Given the description of an element on the screen output the (x, y) to click on. 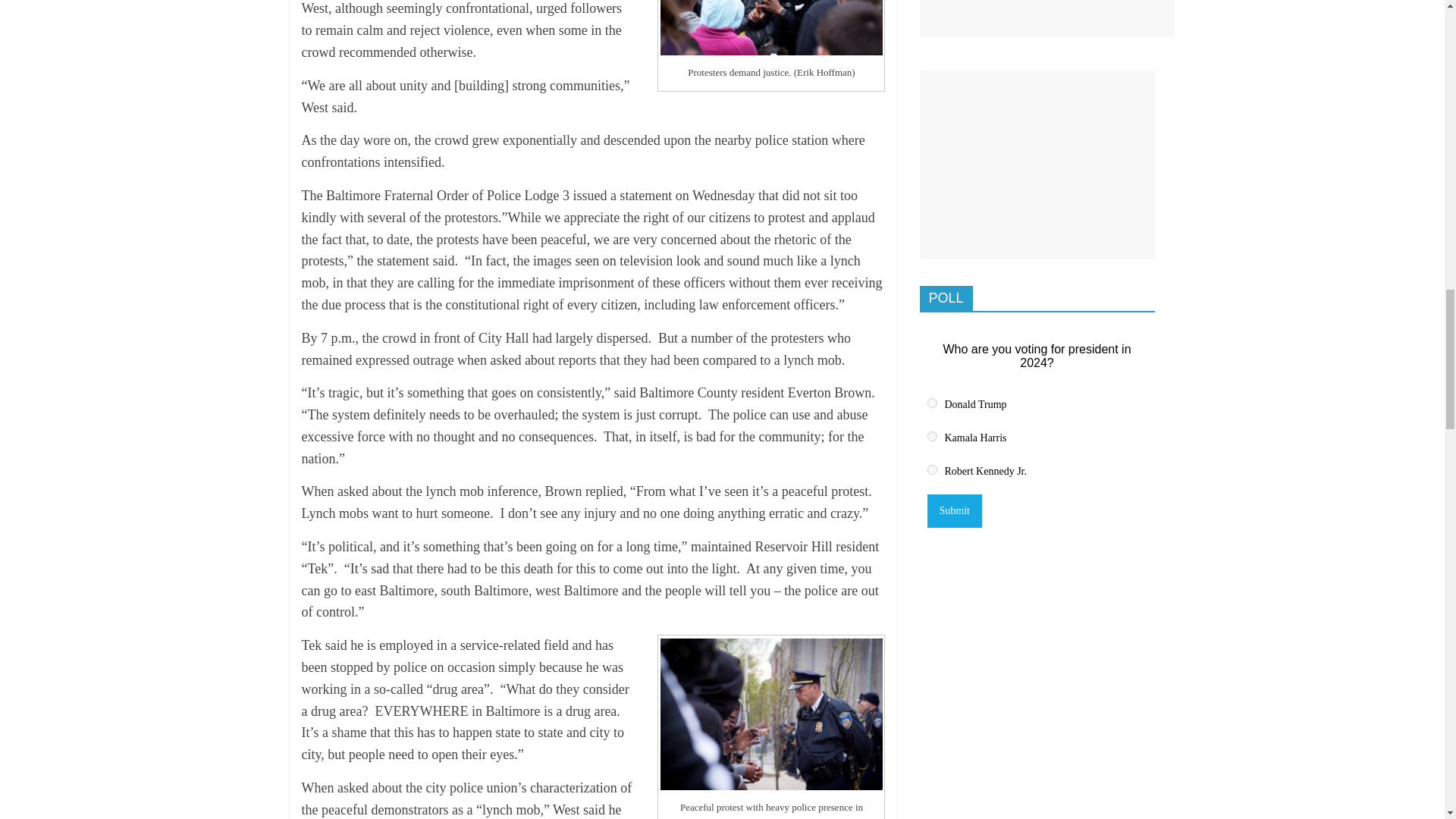
Advertisement (1036, 164)
Advertisement (1045, 18)
1 (931, 402)
3 (931, 470)
2 (931, 436)
